Given the description of an element on the screen output the (x, y) to click on. 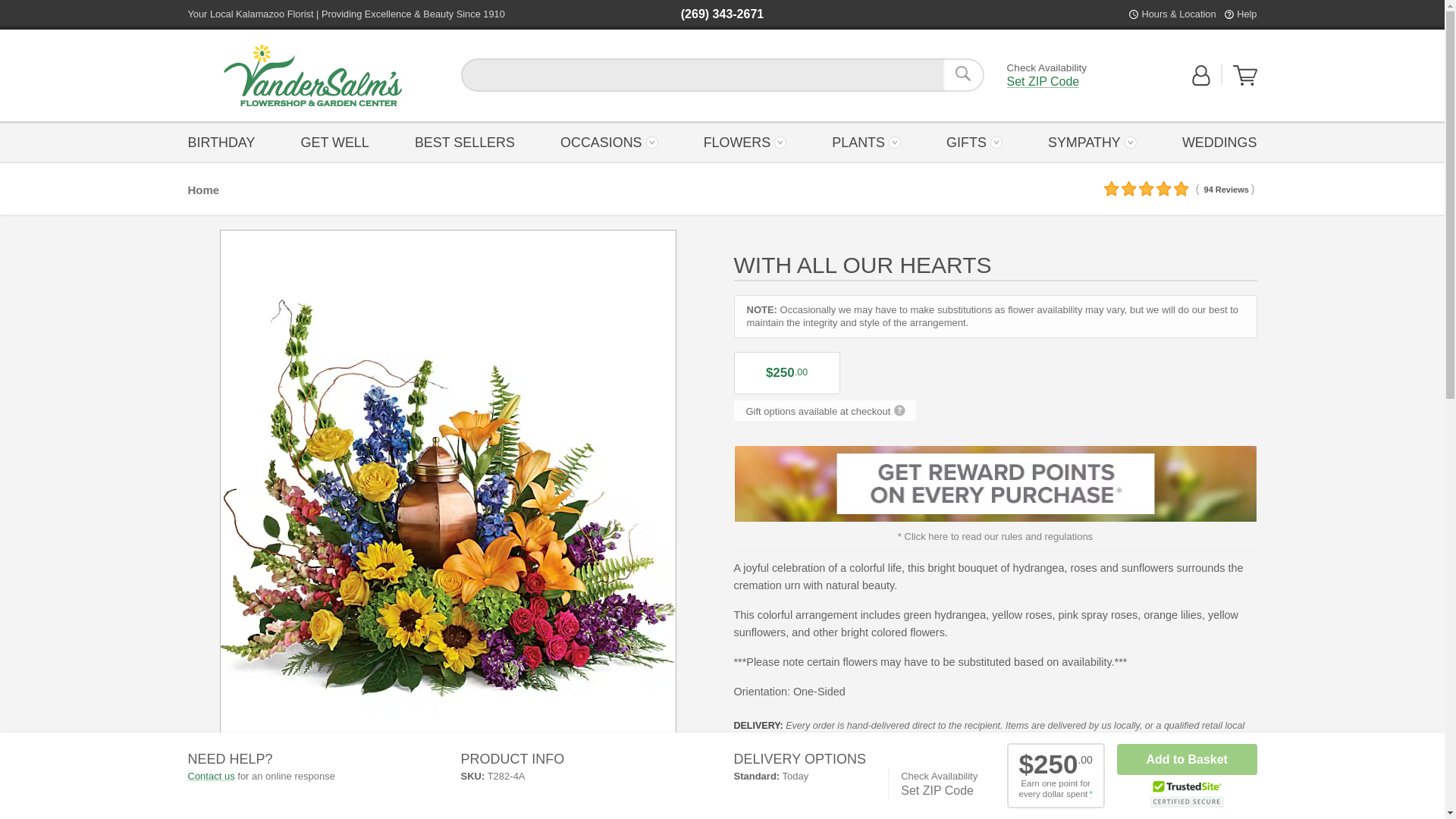
Help (1246, 13)
OCCASIONS (608, 141)
Set ZIP Code (1043, 81)
Vandersalm's Flowershop and Garden Center Logo (312, 75)
BEST SELLERS (464, 141)
View Your Shopping Cart (1245, 75)
BIRTHDAY (225, 141)
Search (963, 74)
Back to the Home Page (312, 76)
GET WELL (334, 141)
View Your Shopping Cart (1245, 82)
